Given the description of an element on the screen output the (x, y) to click on. 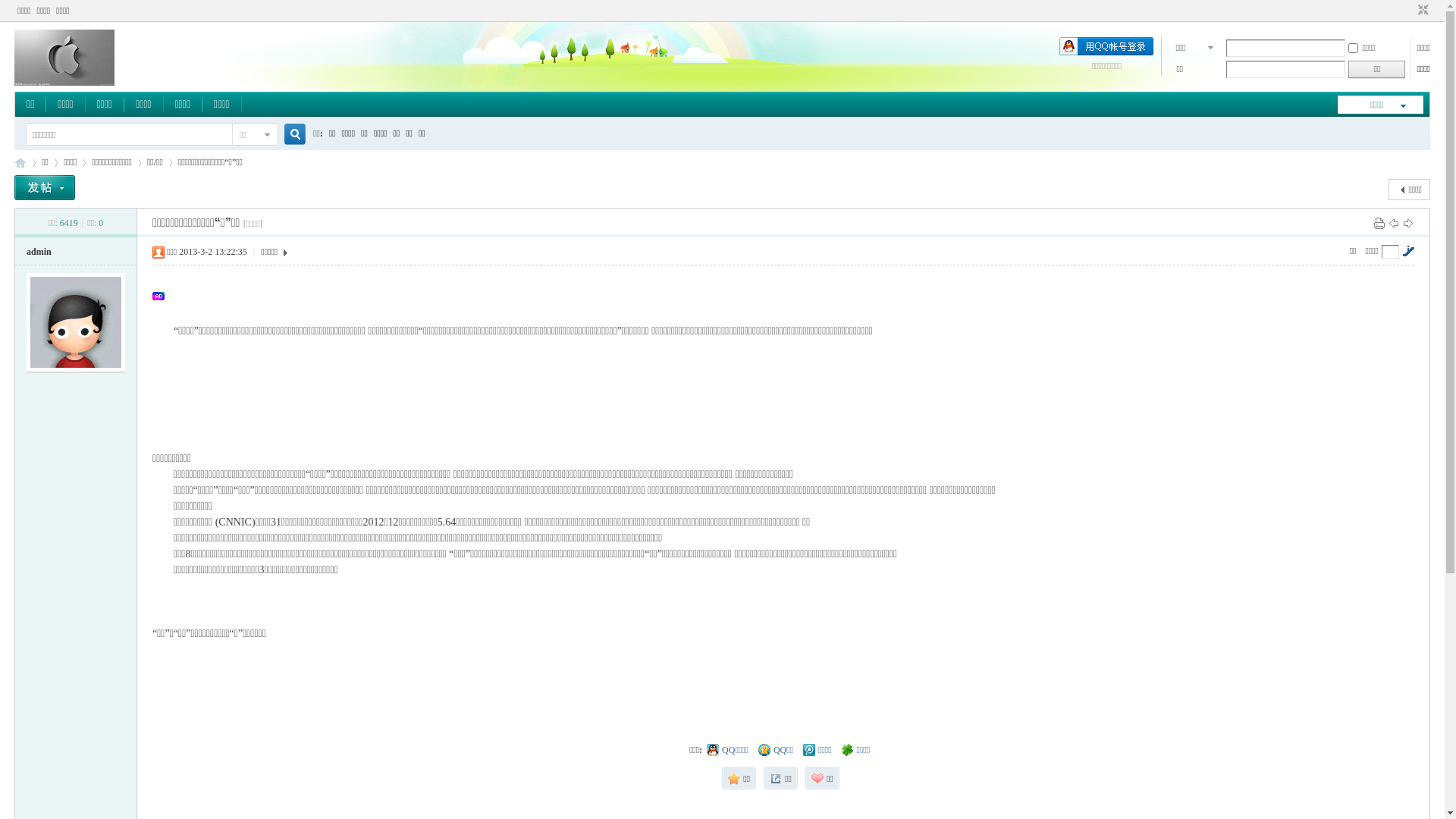
admin Element type: text (38, 251)
Advertisement Element type: hover (344, 295)
